Given the description of an element on the screen output the (x, y) to click on. 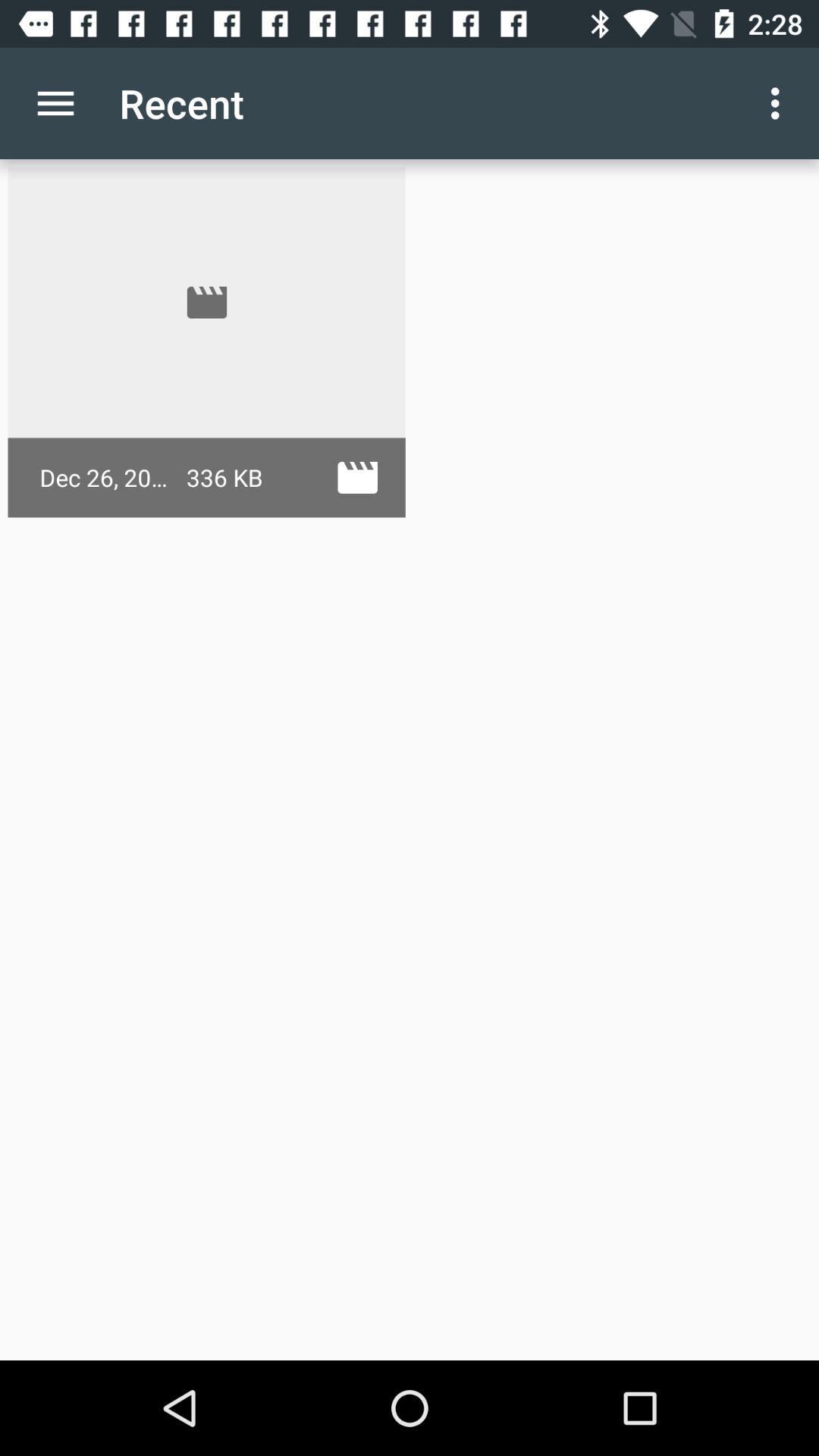
click the app next to the recent (55, 103)
